Given the description of an element on the screen output the (x, y) to click on. 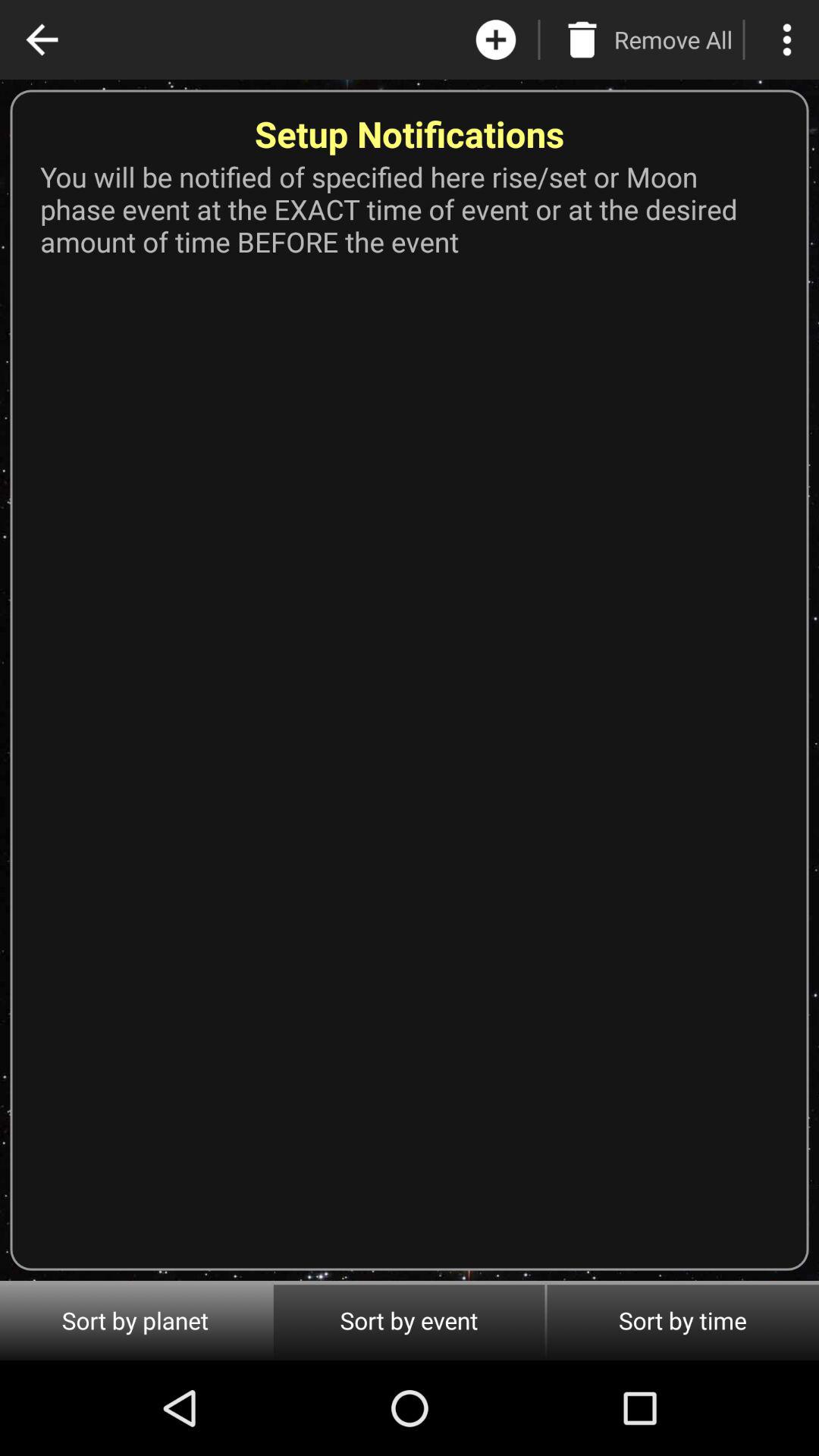
flip until the remove all item (673, 39)
